Given the description of an element on the screen output the (x, y) to click on. 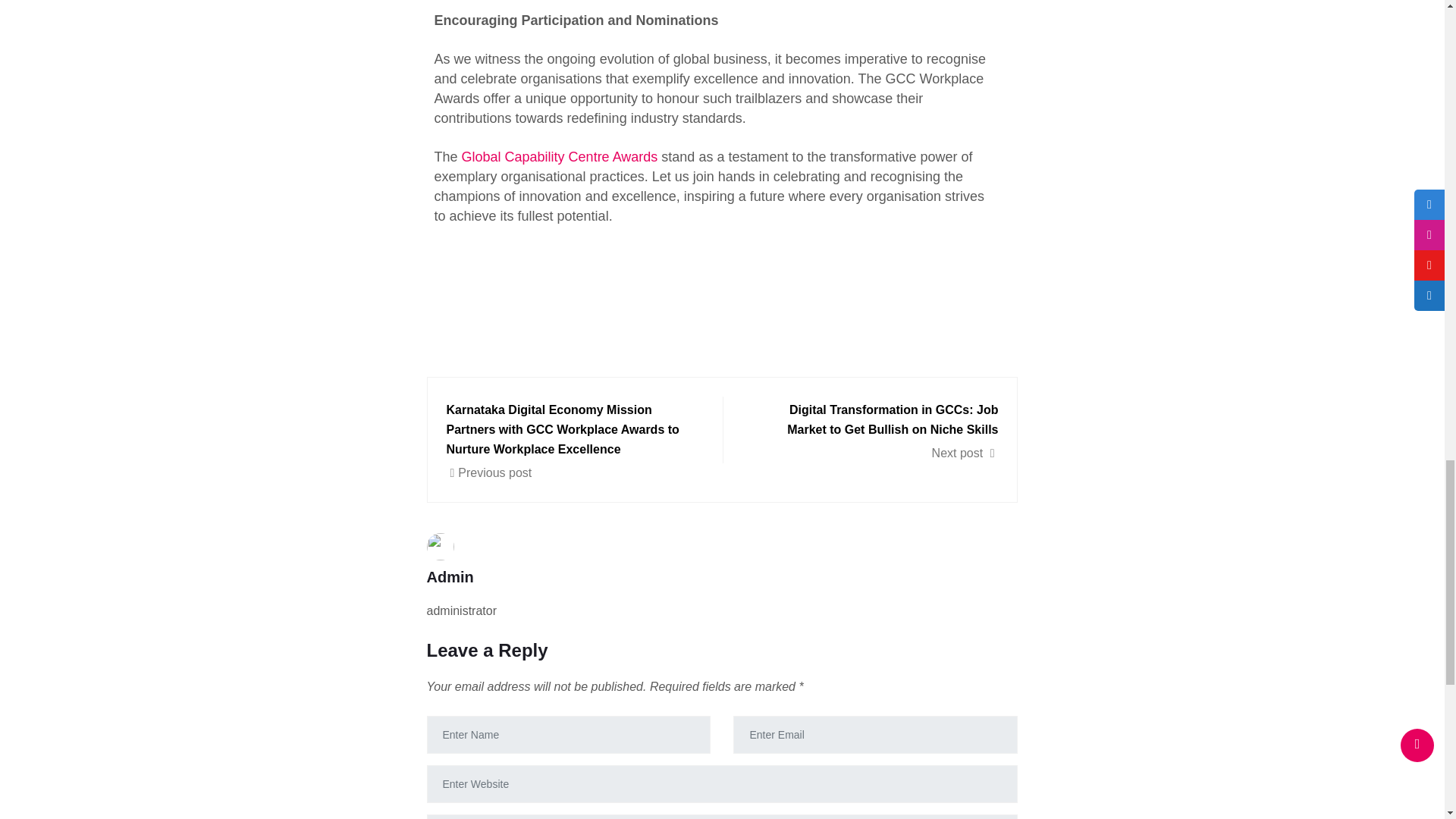
Global Capability Centre Awards (559, 156)
